Given the description of an element on the screen output the (x, y) to click on. 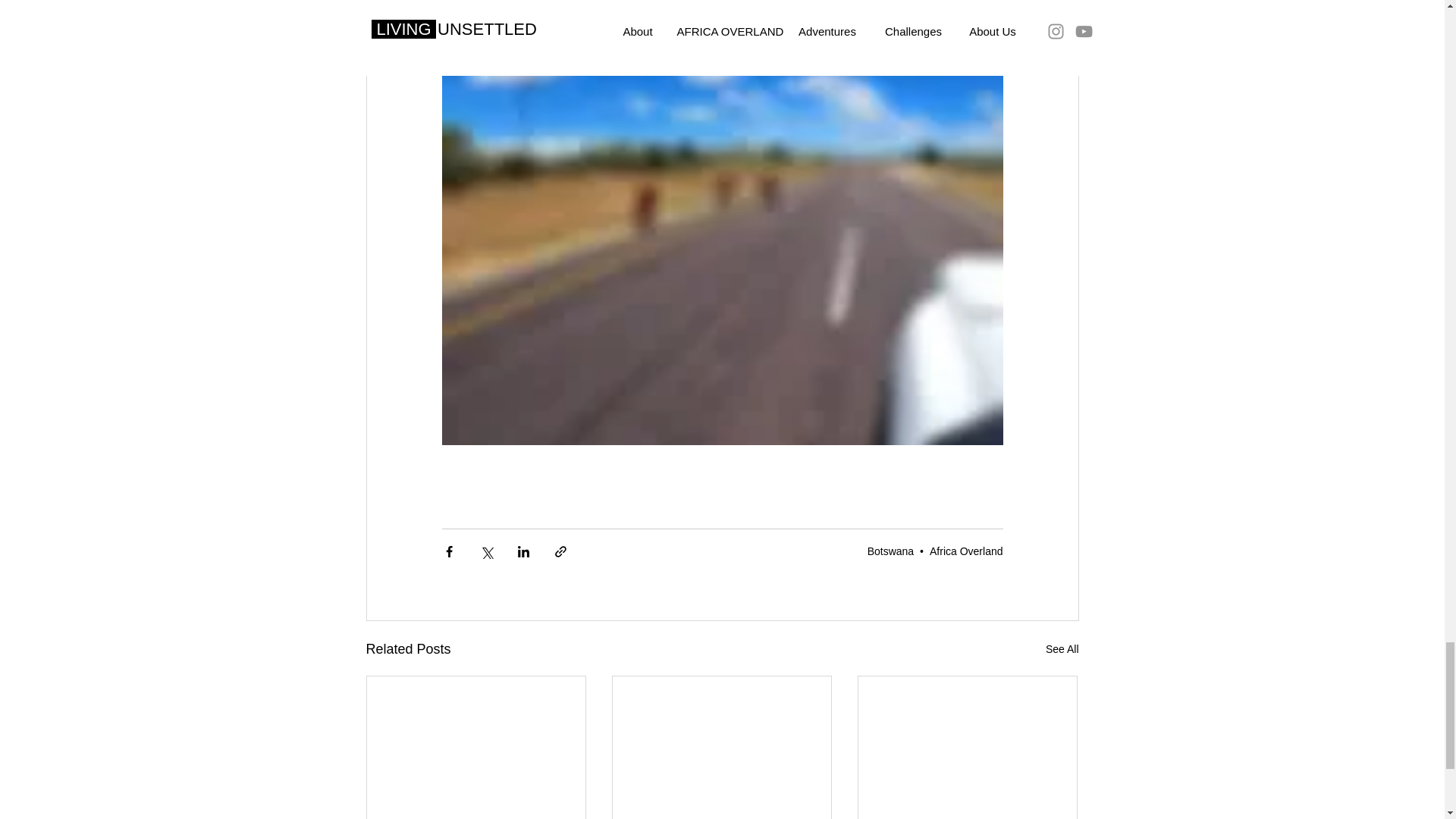
Africa Overland (966, 551)
See All (1061, 649)
Botswana (890, 551)
